Given the description of an element on the screen output the (x, y) to click on. 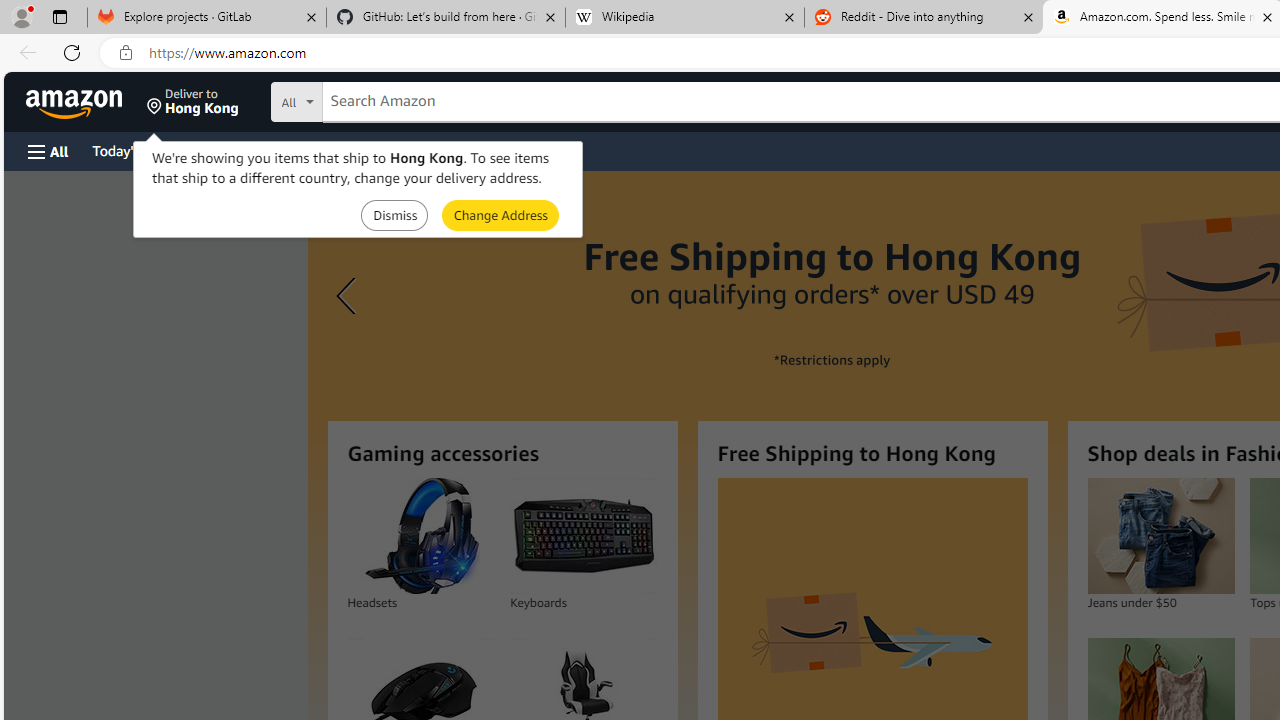
Wikipedia (684, 17)
Keyboards (584, 536)
Keyboards (583, 536)
Open Menu (48, 151)
Registry (360, 150)
Sell (509, 150)
Headsets (420, 536)
Amazon (76, 101)
